Given the description of an element on the screen output the (x, y) to click on. 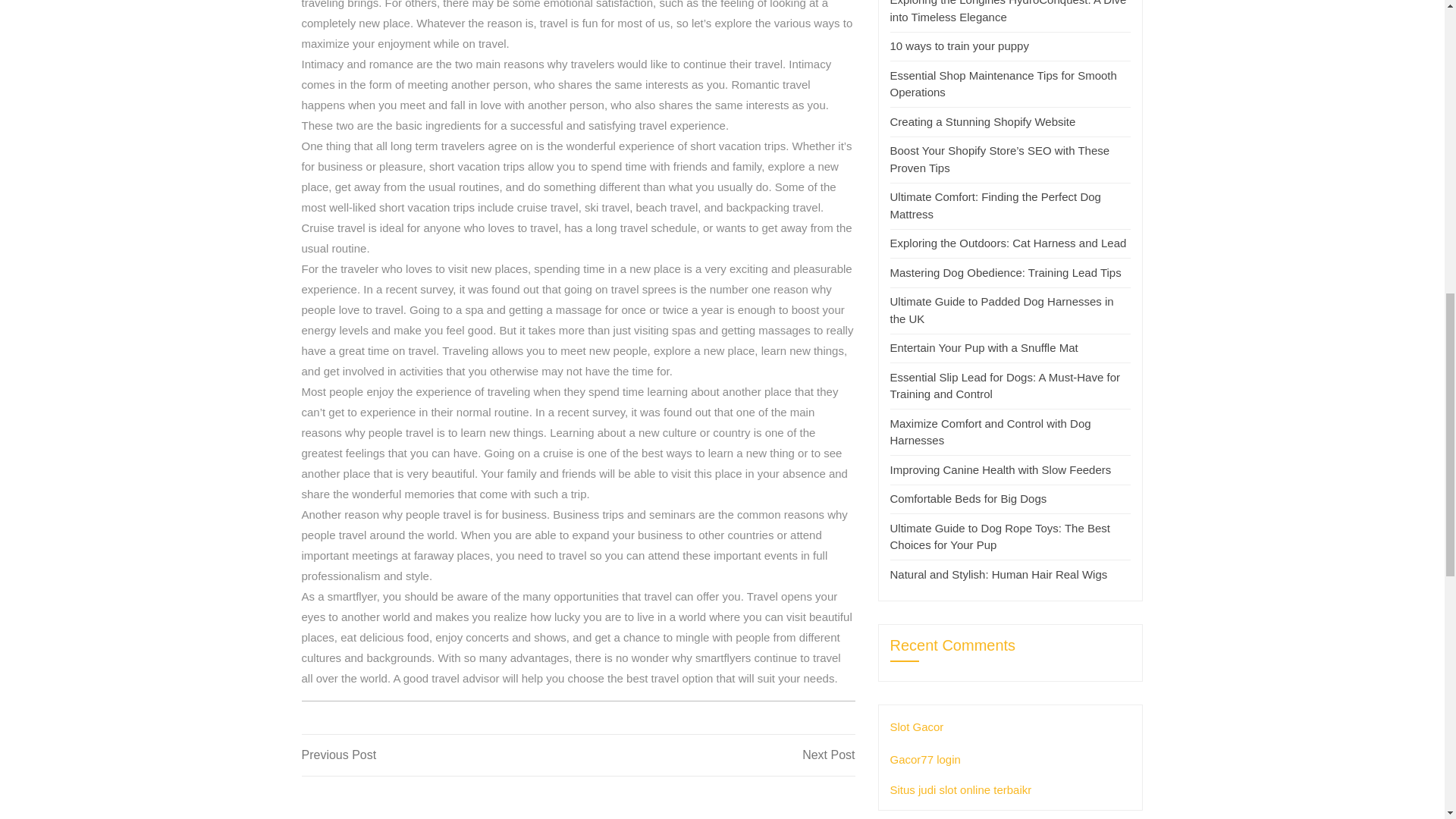
Exploring the Outdoors: Cat Harness and Lead (1007, 242)
Essential Shop Maintenance Tips for Smooth Operations (1002, 83)
Ultimate Comfort: Finding the Perfect Dog Mattress (439, 755)
Creating a Stunning Shopify Website (716, 755)
10 ways to train your puppy (994, 205)
